Given the description of an element on the screen output the (x, y) to click on. 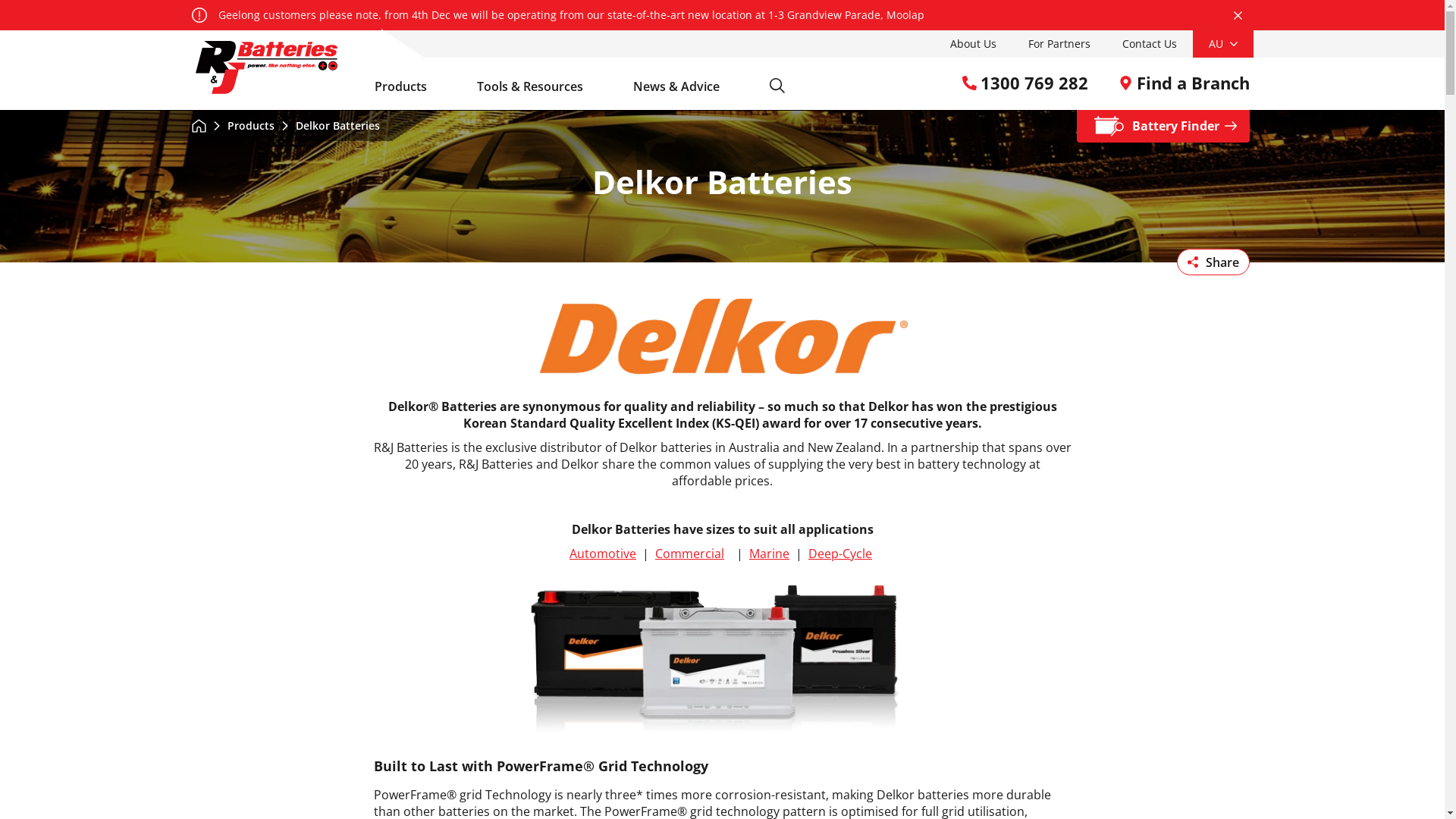
Find a Branch Element type: text (1182, 82)
Battery Finder Element type: text (1162, 125)
Tools & Resources Element type: text (539, 86)
About Us Element type: text (973, 43)
For Partners Element type: text (1058, 43)
AU Element type: text (1222, 43)
Home Element type: text (198, 125)
News & Advice Element type: text (685, 86)
Close Element type: text (1237, 15)
Contact Us Element type: text (1148, 43)
Products Element type: text (410, 86)
Products Element type: text (243, 125)
Commercial Element type: text (689, 553)
1300 769 282 Element type: text (1024, 82)
Automotive Element type: text (602, 553)
Deep-Cycle Element type: text (840, 553)
Marine Element type: text (769, 553)
Share Element type: text (1212, 261)
Search Element type: text (776, 86)
